Given the description of an element on the screen output the (x, y) to click on. 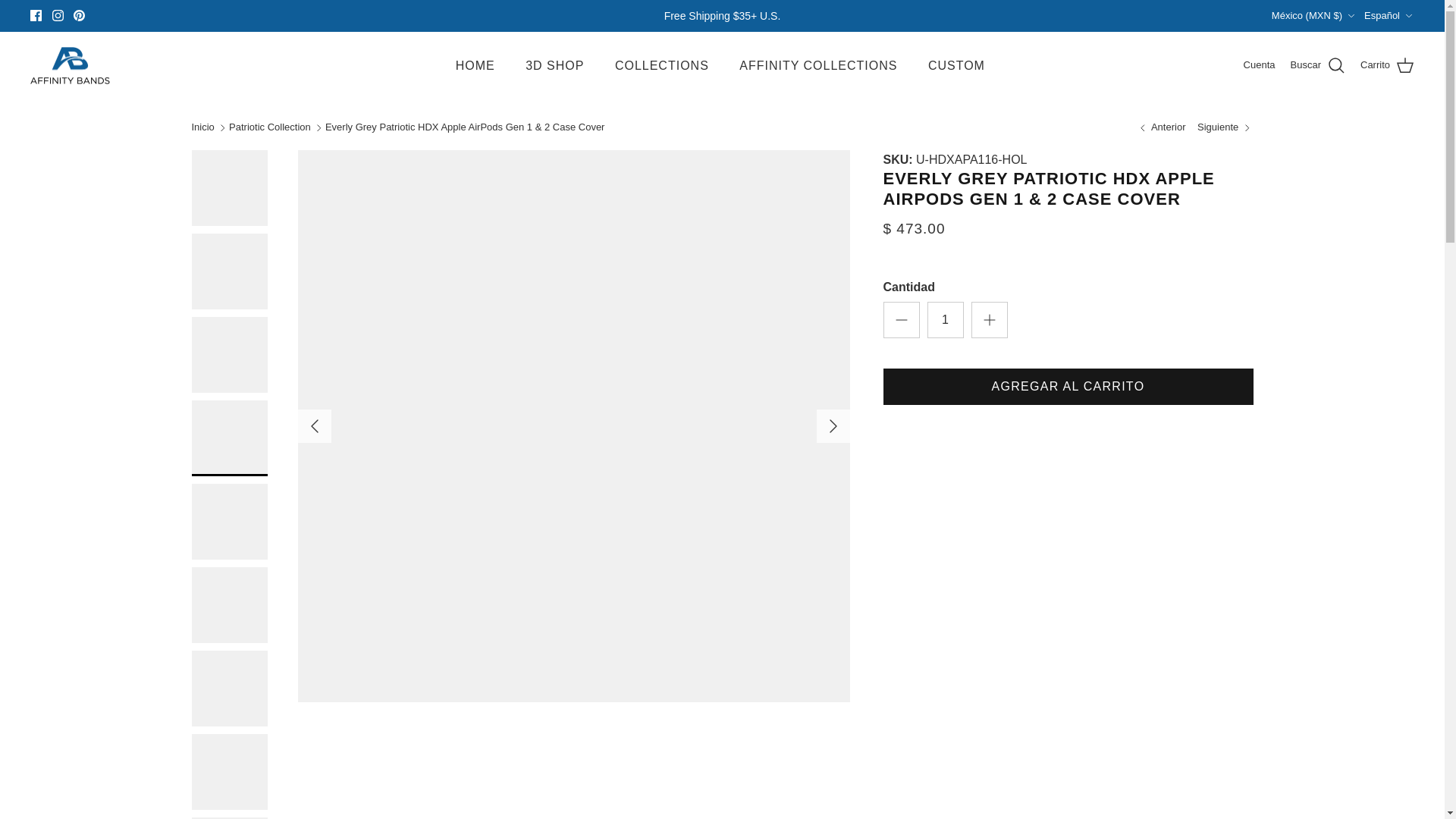
Instagram (58, 15)
IZQUIERDA (313, 426)
Abajo (1408, 15)
Menos (900, 320)
Abajo (1350, 15)
DERECHA (832, 426)
Facebook (36, 15)
1 (944, 320)
Pinterest (79, 15)
Facebook (36, 15)
USA Flag HDX Apple AirPods Gen 3 Case Cover (1161, 127)
Instagram (58, 15)
Affinity Bands (70, 65)
Pinterest (79, 15)
